Given the description of an element on the screen output the (x, y) to click on. 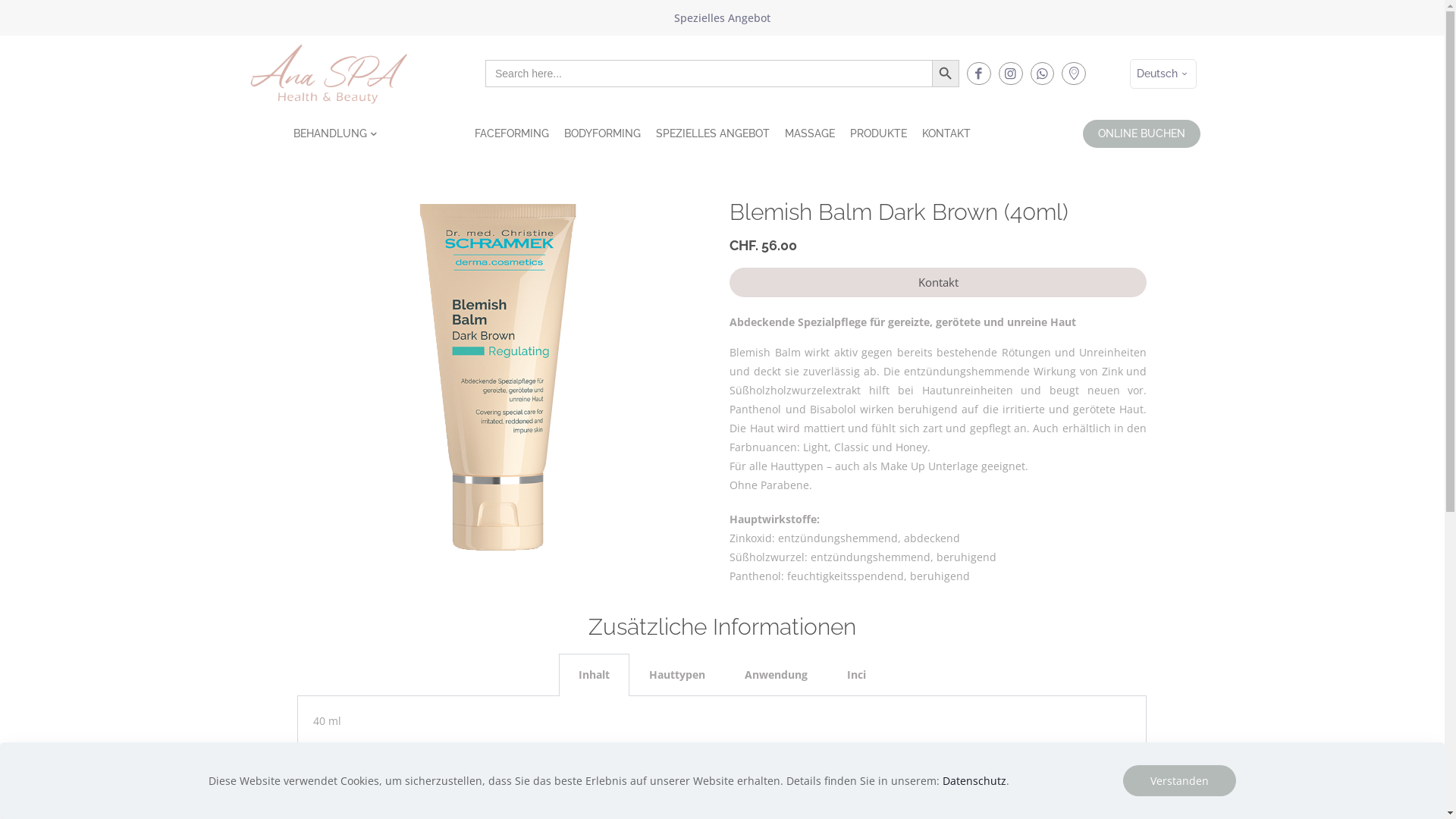
Verstanden Element type: text (1179, 780)
BODYFORMING Element type: text (602, 133)
Deutsch Element type: text (1162, 73)
PRODUKTE Element type: text (877, 133)
Search Button Element type: text (945, 73)
ONLINE BUCHEN Element type: text (1141, 133)
BEHANDLUNG Element type: text (336, 133)
Spezielles Angebot Element type: text (721, 17)
FACEFORMING Element type: text (511, 133)
SPEZIELLES ANGEBOT Element type: text (711, 133)
KONTAKT Element type: text (946, 133)
Kontakt Element type: text (937, 282)
Datenschutz Element type: text (974, 780)
MASSAGE Element type: text (808, 133)
